Given the description of an element on the screen output the (x, y) to click on. 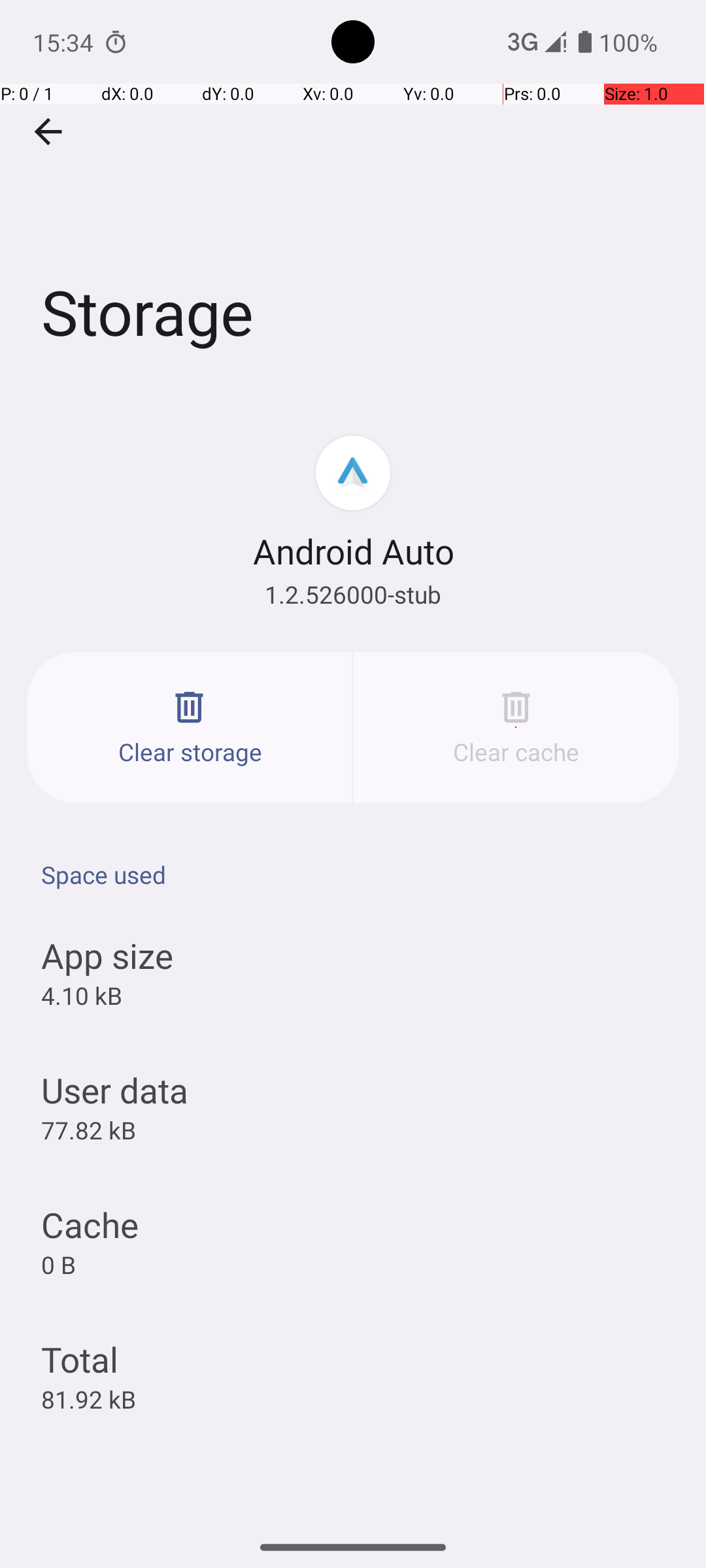
1.2.526000-stub Element type: android.widget.TextView (352, 593)
Clear storage Element type: android.widget.Button (189, 727)
4.10 kB Element type: android.widget.TextView (81, 995)
77.82 kB Element type: android.widget.TextView (88, 1129)
81.92 kB Element type: android.widget.TextView (88, 1398)
